Given the description of an element on the screen output the (x, y) to click on. 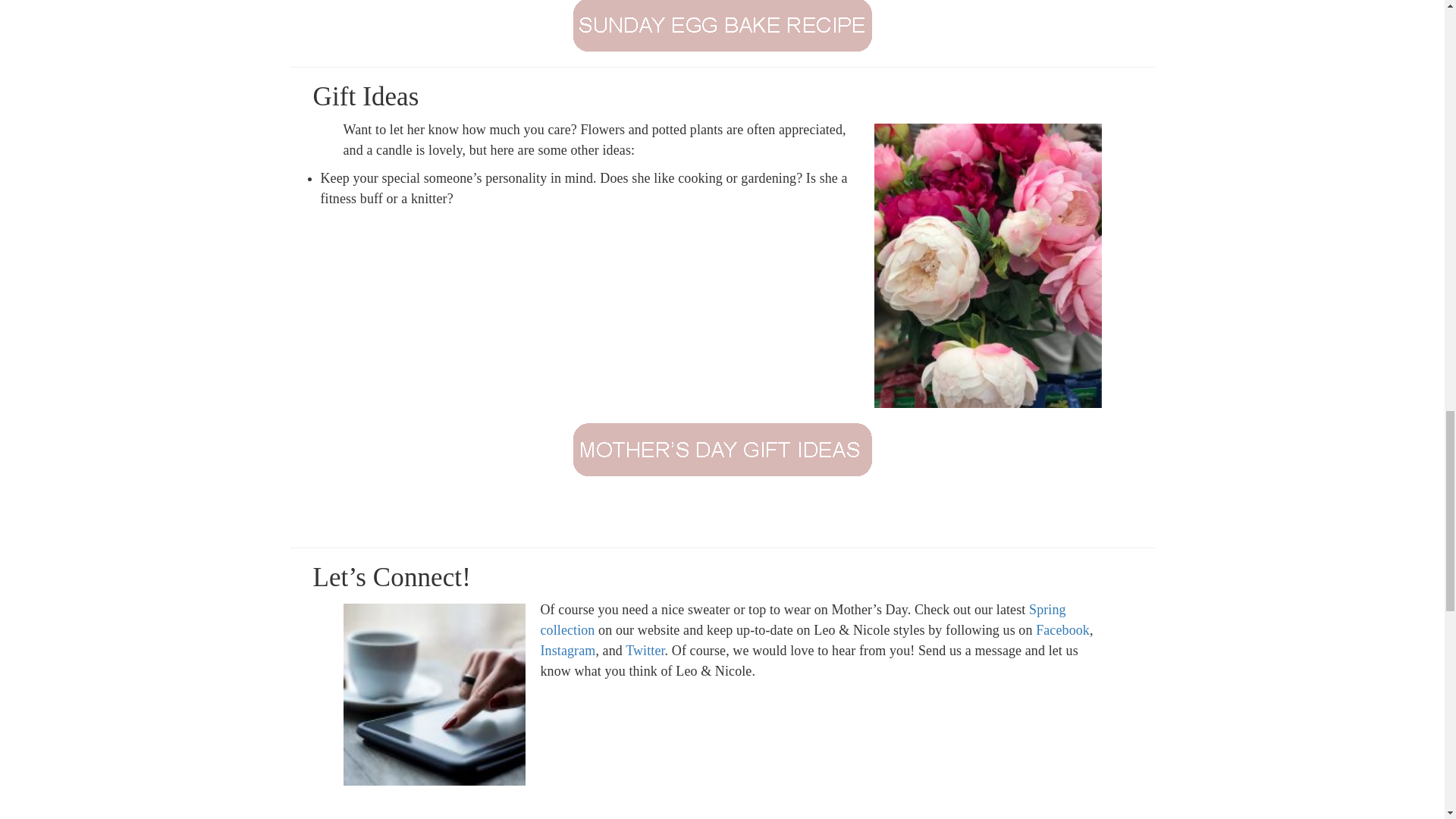
Instagram (567, 650)
Facebook (1062, 630)
Spring collection (802, 619)
